Given the description of an element on the screen output the (x, y) to click on. 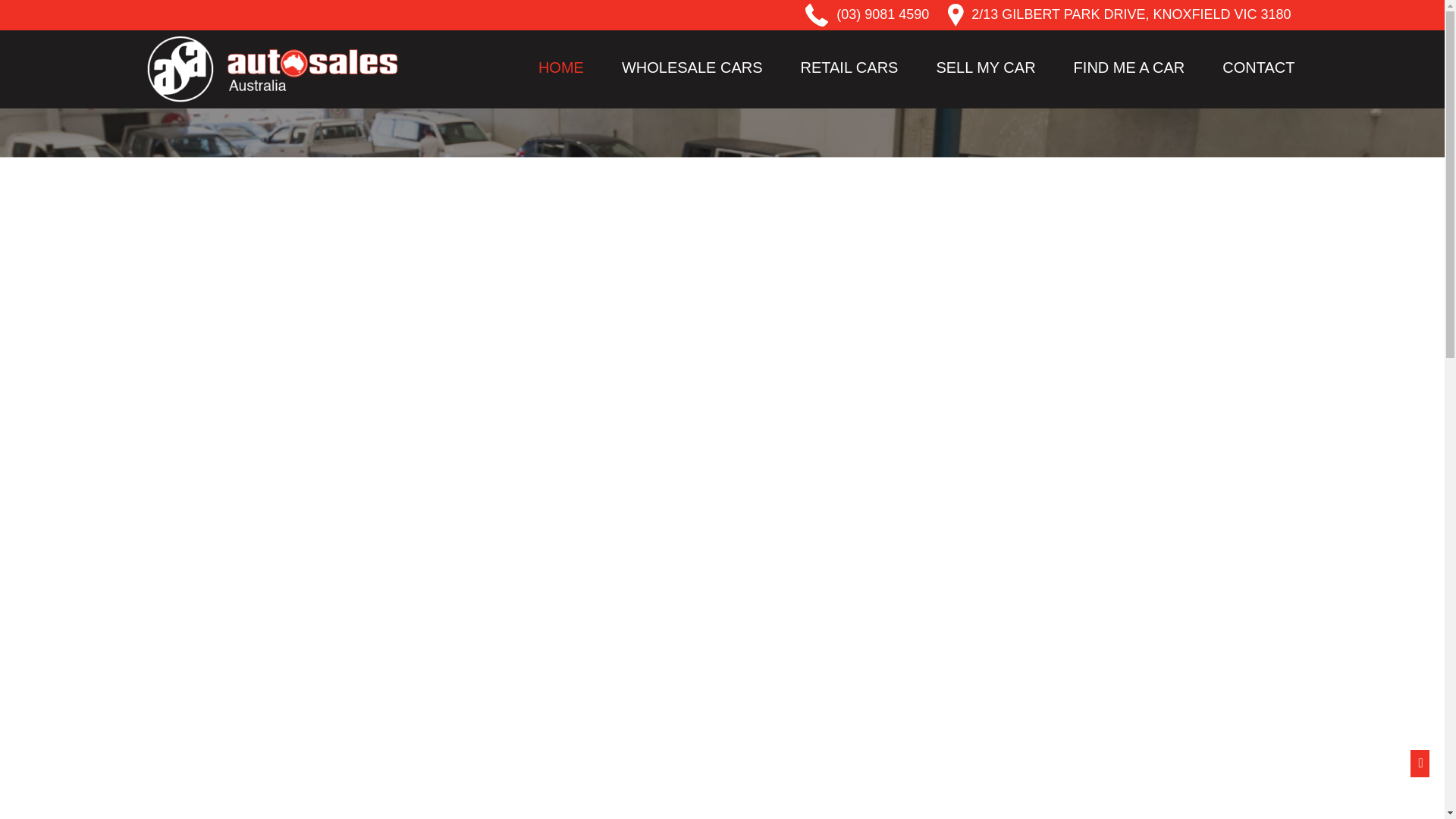
WHOLESALE CARS (692, 67)
RETAIL CARS (849, 67)
FIND ME A CAR (1128, 67)
CONTACT (1257, 67)
SELL MY CAR (985, 67)
HOME (561, 67)
